Given the description of an element on the screen output the (x, y) to click on. 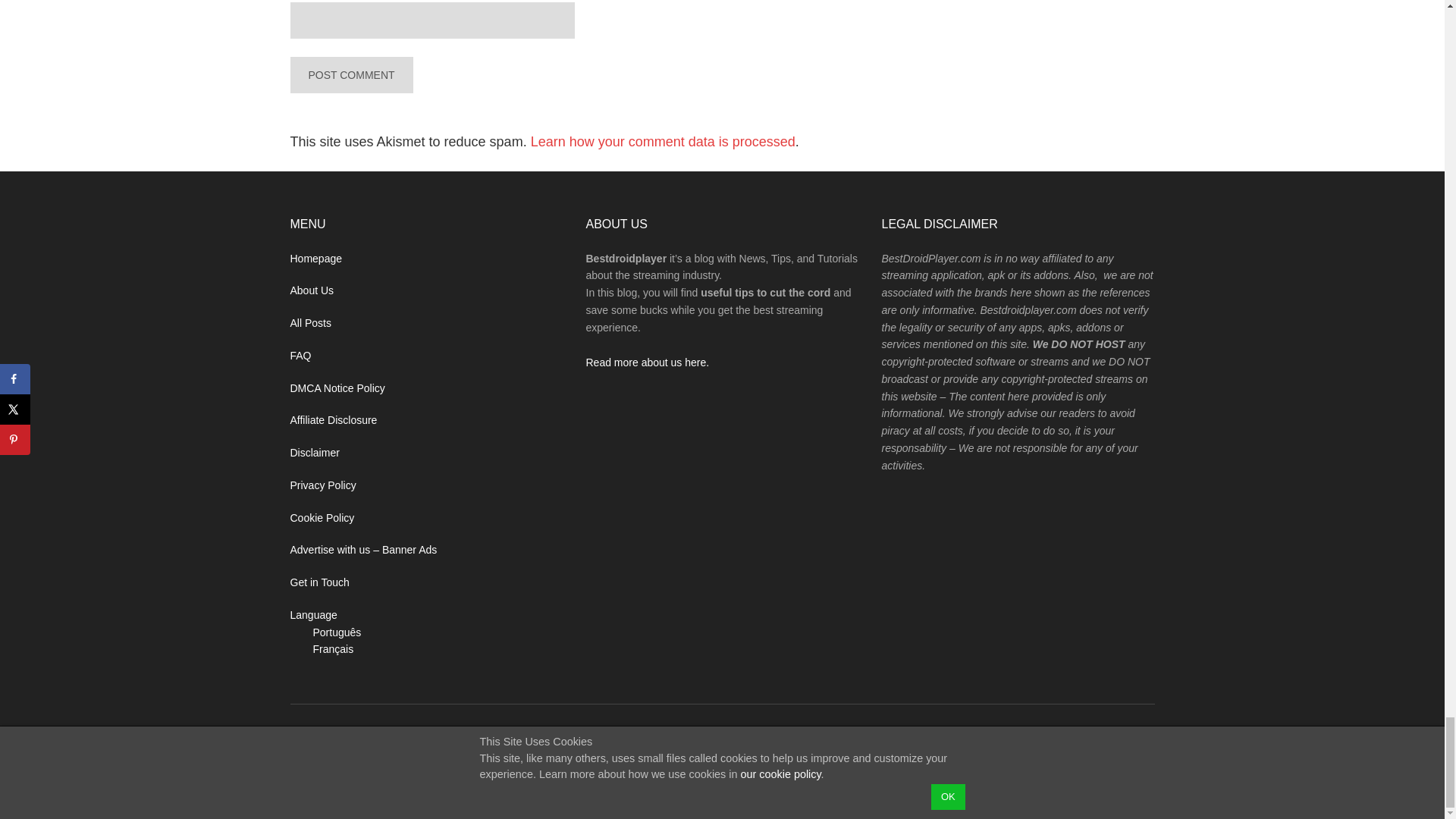
Post Comment (350, 74)
